Given the description of an element on the screen output the (x, y) to click on. 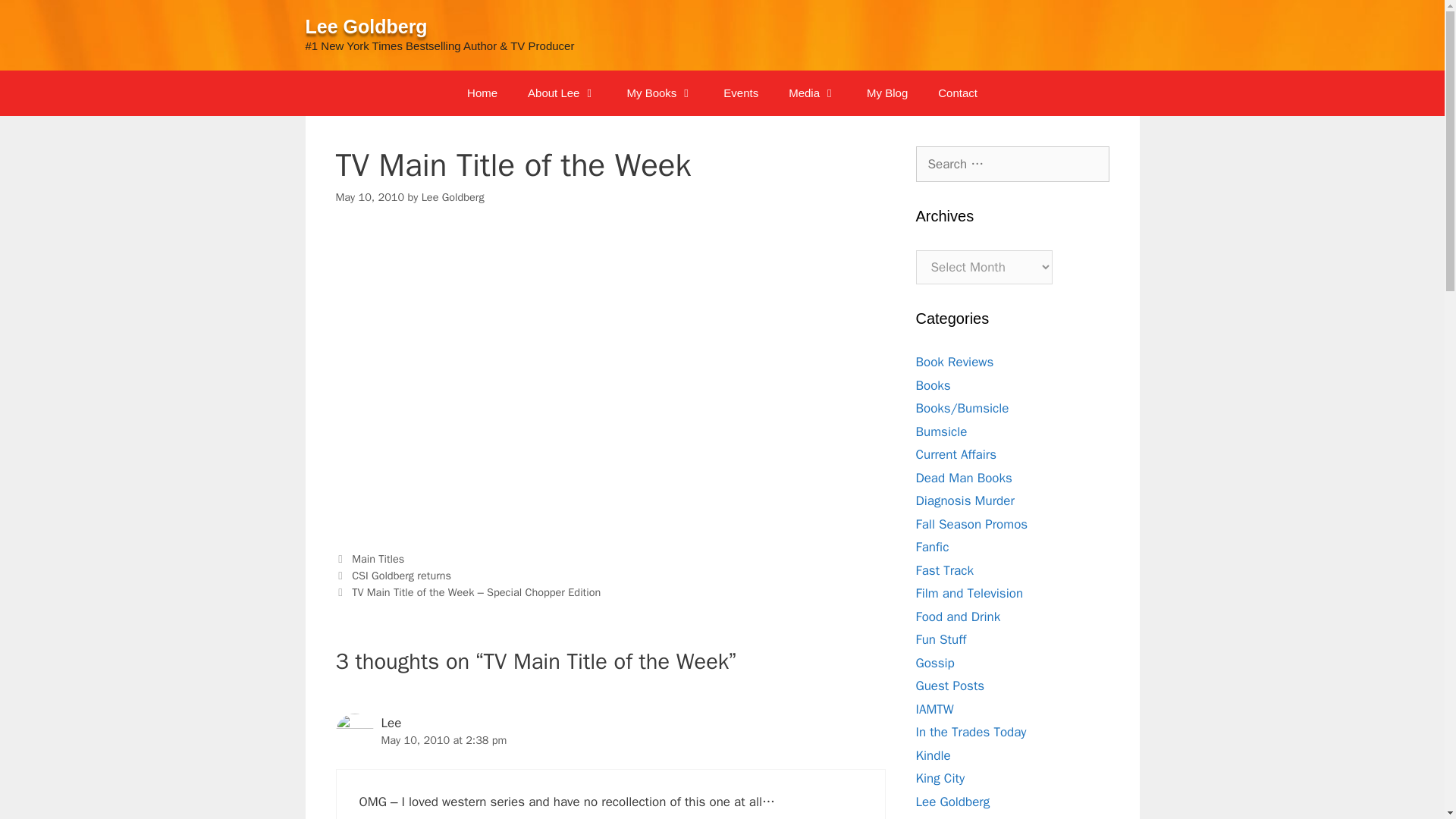
About Lee (561, 92)
Search for: (1012, 163)
Home (481, 92)
View all posts by Lee Goldberg (453, 196)
Events (740, 92)
My Blog (887, 92)
Media (812, 92)
My Books (659, 92)
Lee Goldberg (365, 25)
